Given the description of an element on the screen output the (x, y) to click on. 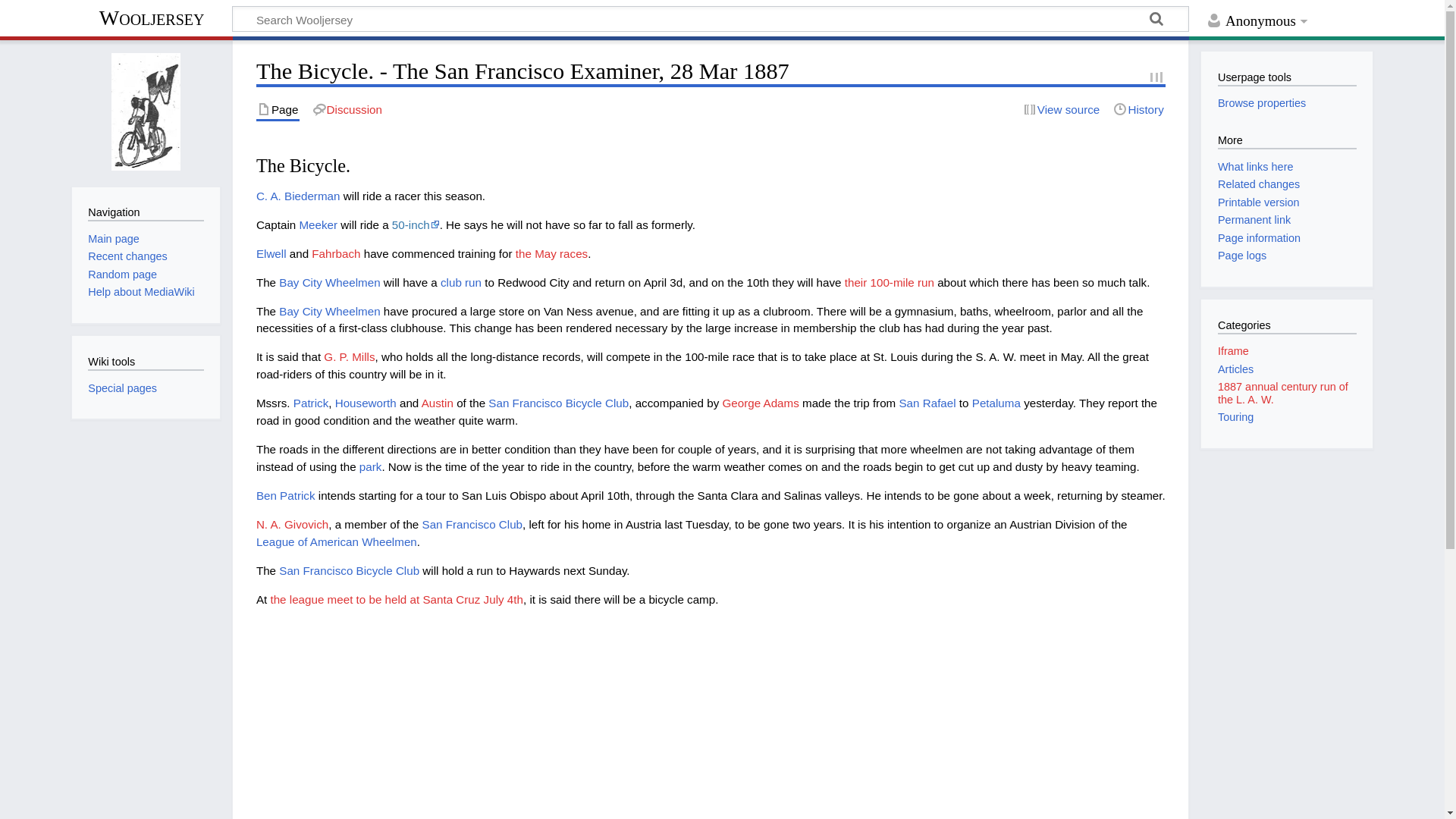
Go (1155, 21)
Search (1155, 21)
Elwell (271, 253)
Bay City Wheelmen (329, 282)
Bay City Wheelmen (329, 282)
San Rafael (926, 402)
San Francisco Bicycle Club (557, 402)
their 100-mile run (889, 282)
Austin (437, 402)
San Francisco Bicycle Club (349, 570)
